Given the description of an element on the screen output the (x, y) to click on. 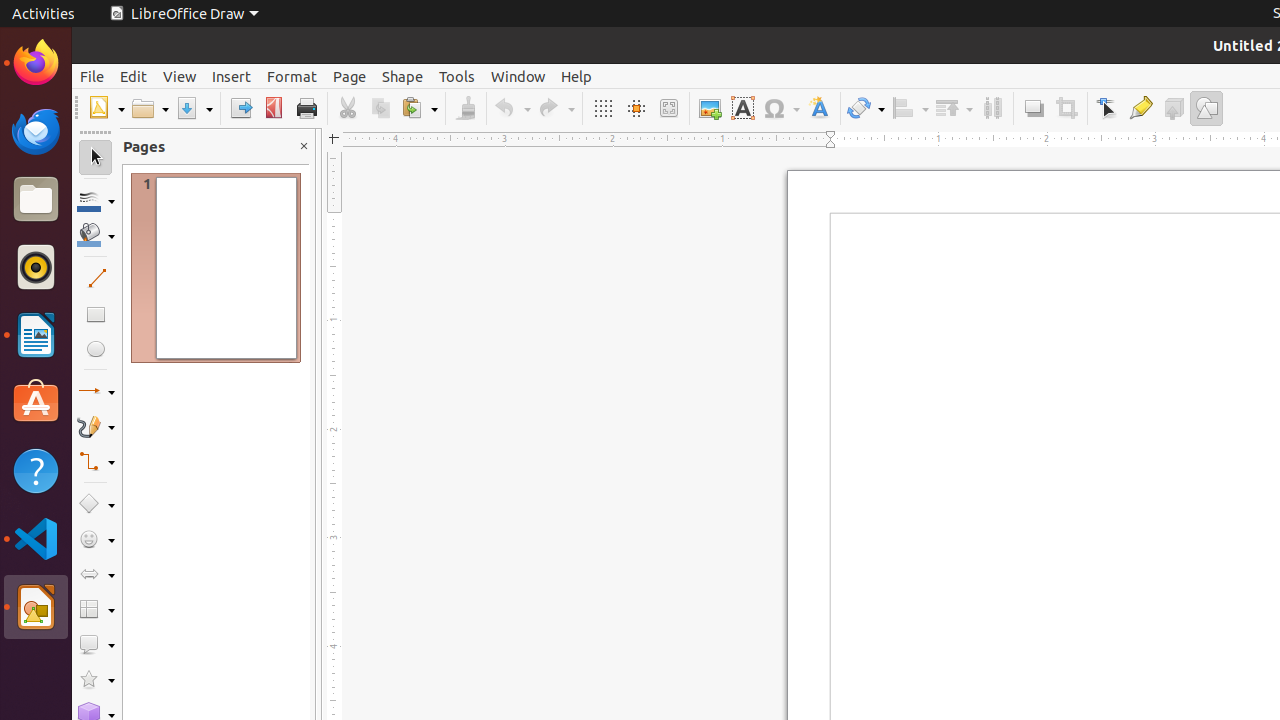
Grid Element type: toggle-button (602, 108)
Select Element type: push-button (95, 157)
Help Element type: push-button (36, 470)
Text Box Element type: push-button (742, 108)
Transformations Element type: push-button (866, 108)
